Given the description of an element on the screen output the (x, y) to click on. 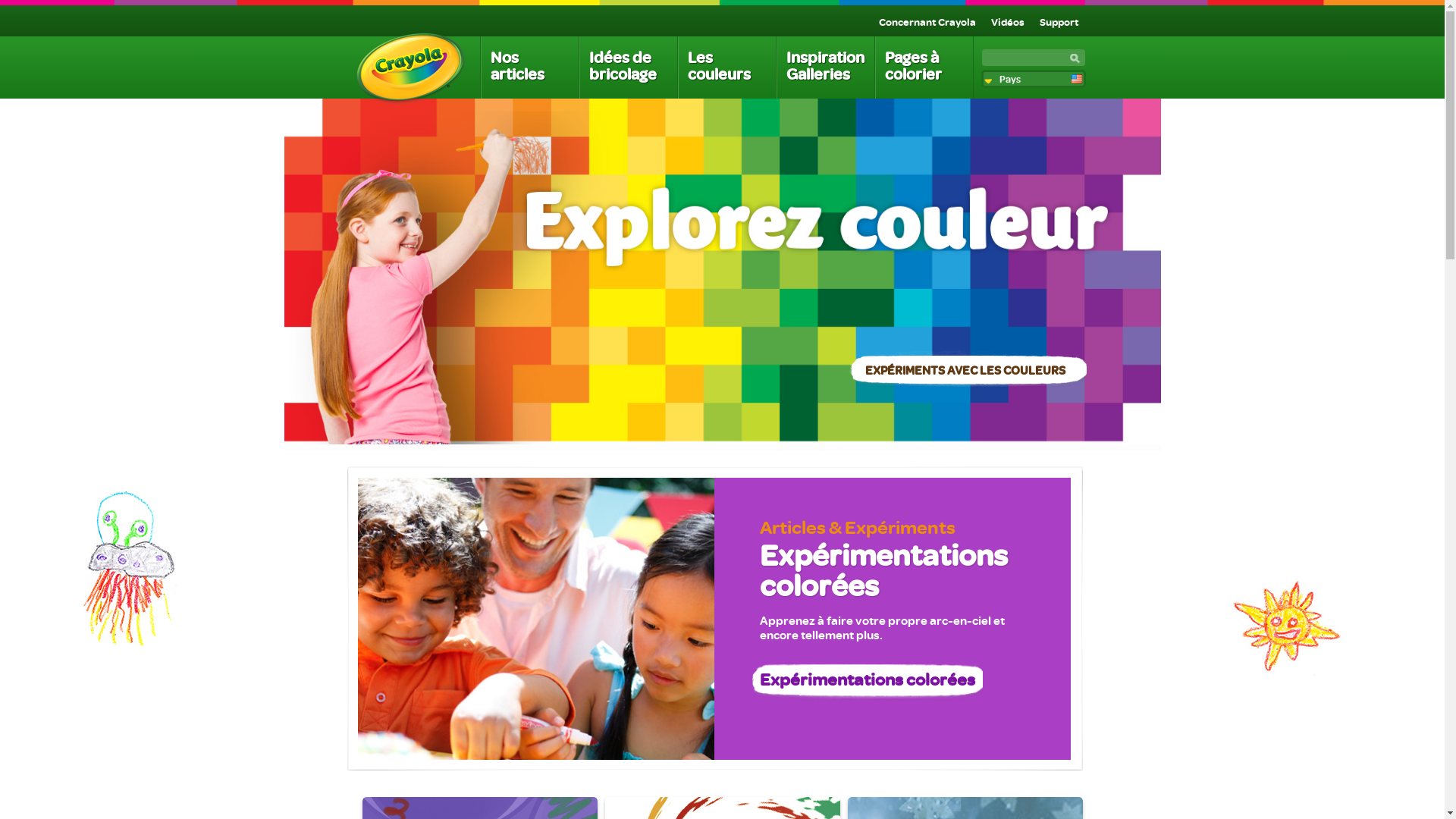
Concernant Crayola Element type: text (926, 21)
Inspiration Galleries Element type: text (824, 67)
Pays Element type: text (1033, 78)
Les couleurs Element type: text (726, 67)
Support Element type: text (1058, 21)
Nos articles Element type: text (528, 67)
